Given the description of an element on the screen output the (x, y) to click on. 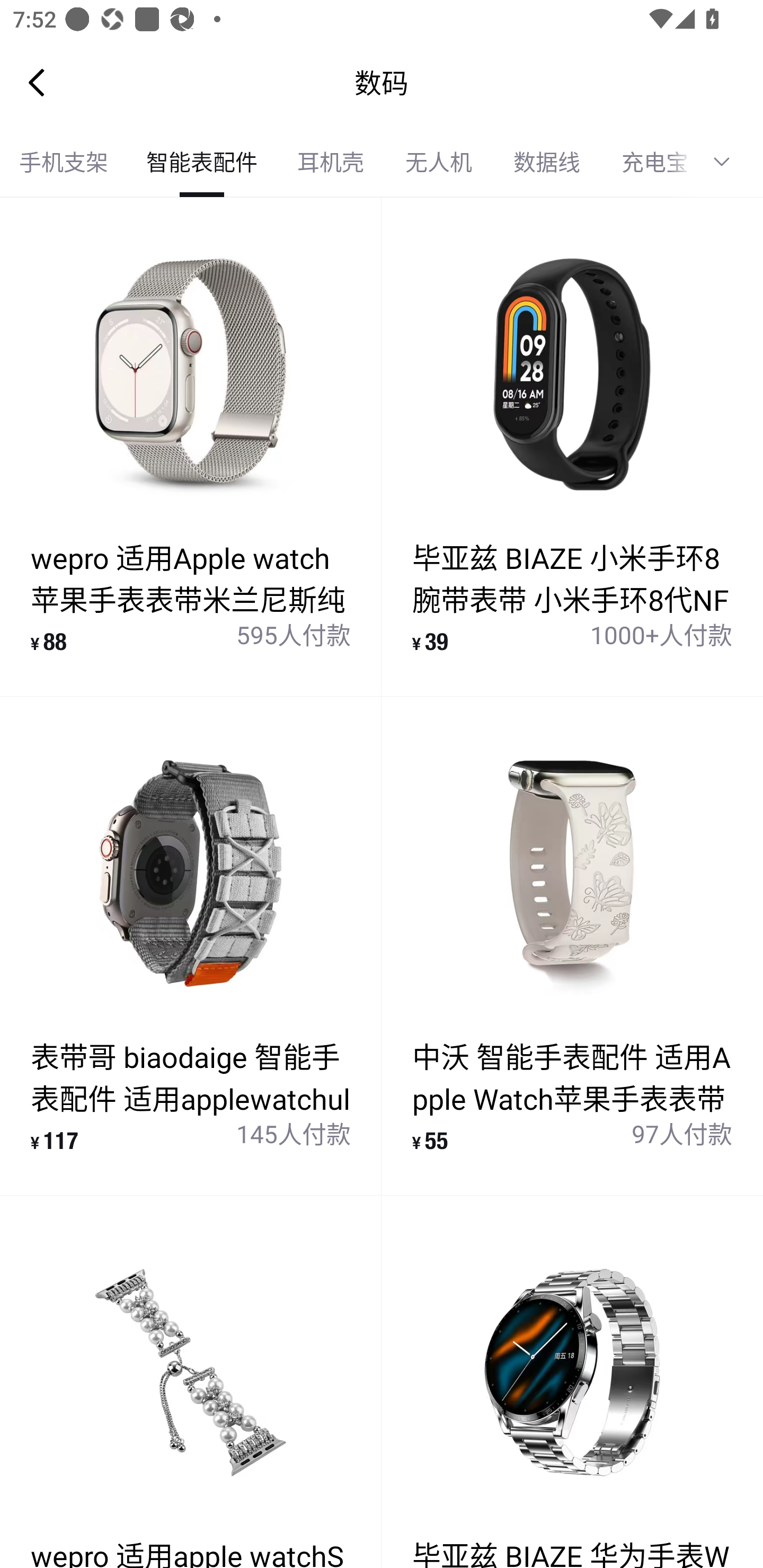
Navigate up (36, 82)
手机支架 (63, 162)
智能表配件 (201, 162)
耳机壳 (330, 162)
无人机 (438, 162)
数据线 (546, 162)
充电宝 (646, 162)
 (727, 162)
wepro 适用apple watchS
9/Ultra2 高级感金属镶钻
珍珠  智能手表配件 (190, 1381)
